Given the description of an element on the screen output the (x, y) to click on. 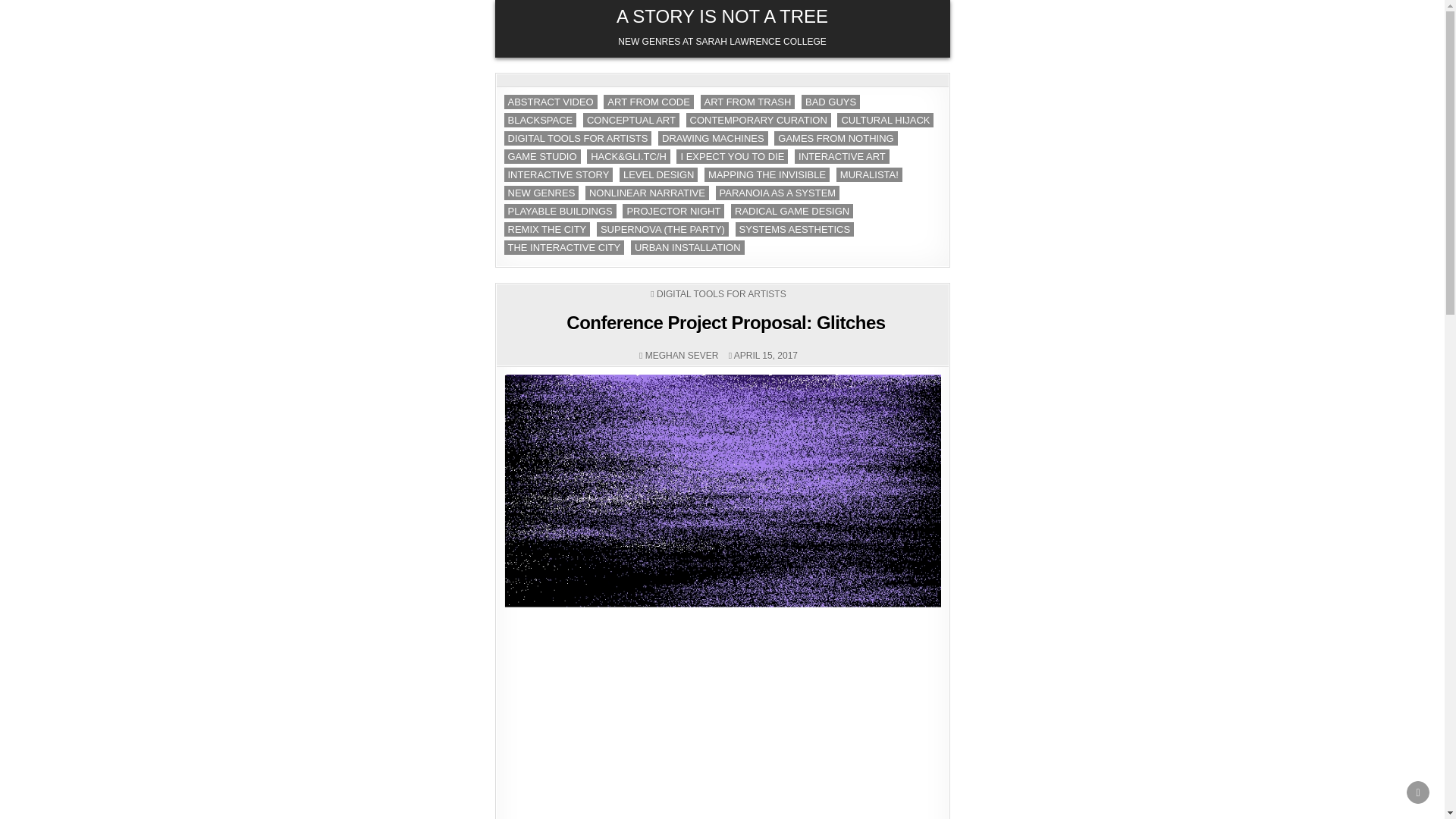
PROJECTOR NIGHT (673, 210)
GAMES FROM NOTHING (835, 138)
REMIX THE CITY (546, 228)
GAME STUDIO (541, 156)
SCROLL TO TOP (1417, 792)
MURALISTA! (868, 174)
PARANOIA AS A SYSTEM (778, 192)
NEW GENRES (540, 192)
INTERACTIVE ART (841, 156)
CULTURAL HIJACK (885, 120)
SYSTEMS AESTHETICS (794, 228)
INTERACTIVE STORY (557, 174)
THE INTERACTIVE CITY (563, 247)
A STORY IS NOT A TREE (721, 15)
URBAN INSTALLATION (687, 247)
